Given the description of an element on the screen output the (x, y) to click on. 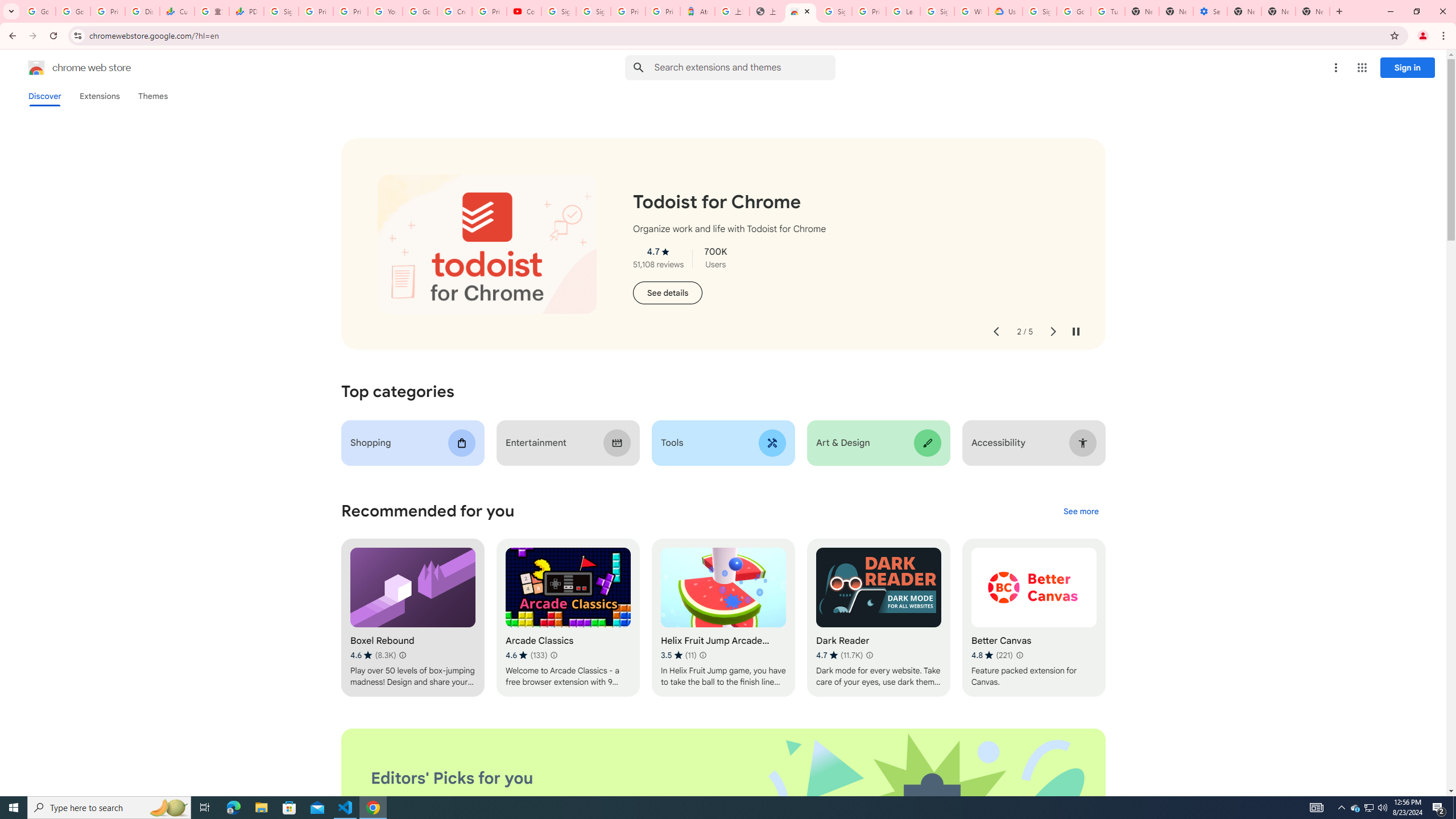
Average rating 4.7 out of 5 stars. 11.7K ratings. (839, 655)
Chrome Web Store logo chrome web store (67, 67)
Average rating 4.6 out of 5 stars. 8.3K ratings. (372, 655)
Extensions (99, 95)
Search input (744, 67)
Settings - Addresses and more (1209, 11)
Discover (43, 95)
YouTube (384, 11)
Entertainment (567, 443)
